Given the description of an element on the screen output the (x, y) to click on. 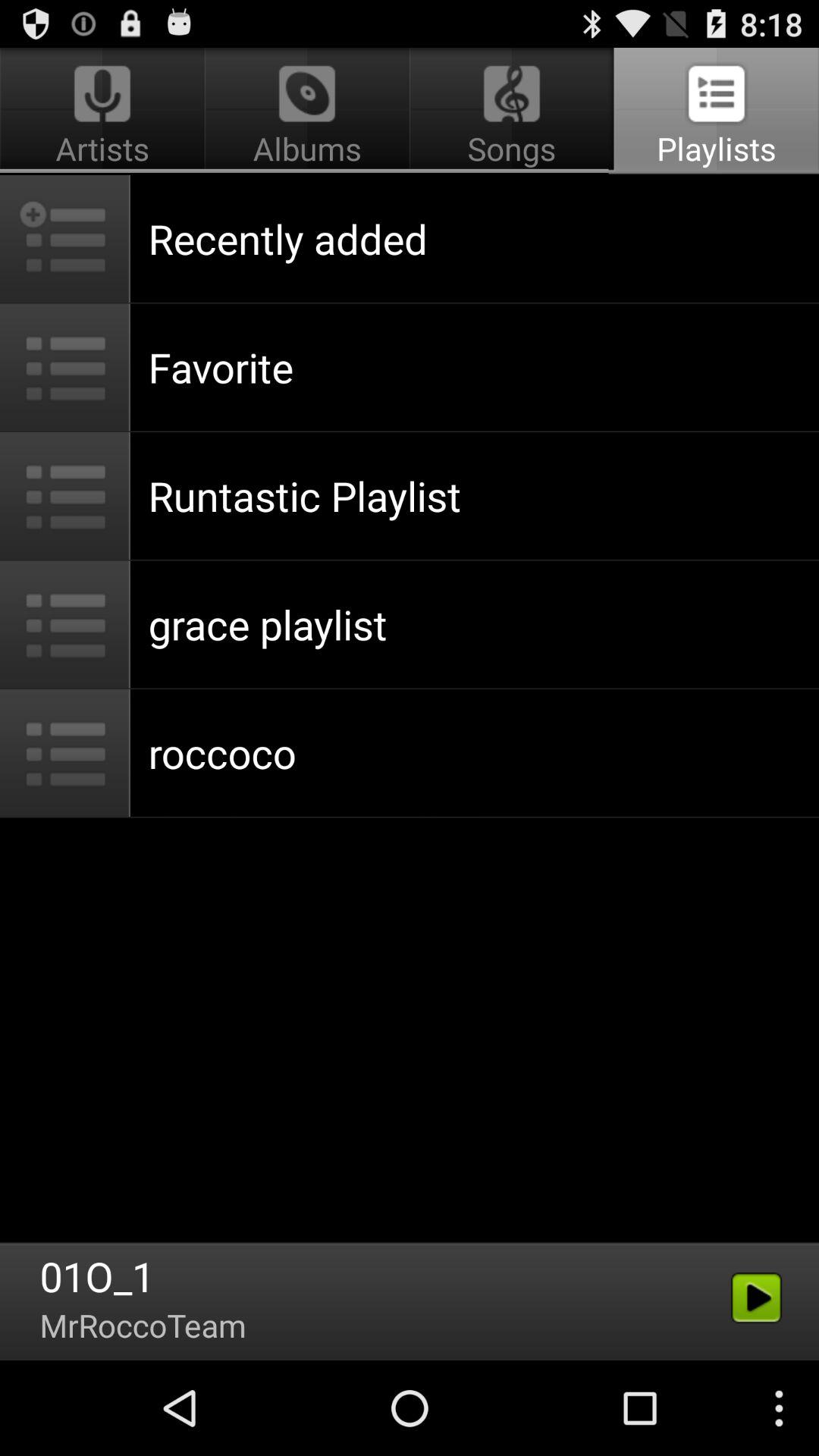
swipe until artists app (105, 111)
